Given the description of an element on the screen output the (x, y) to click on. 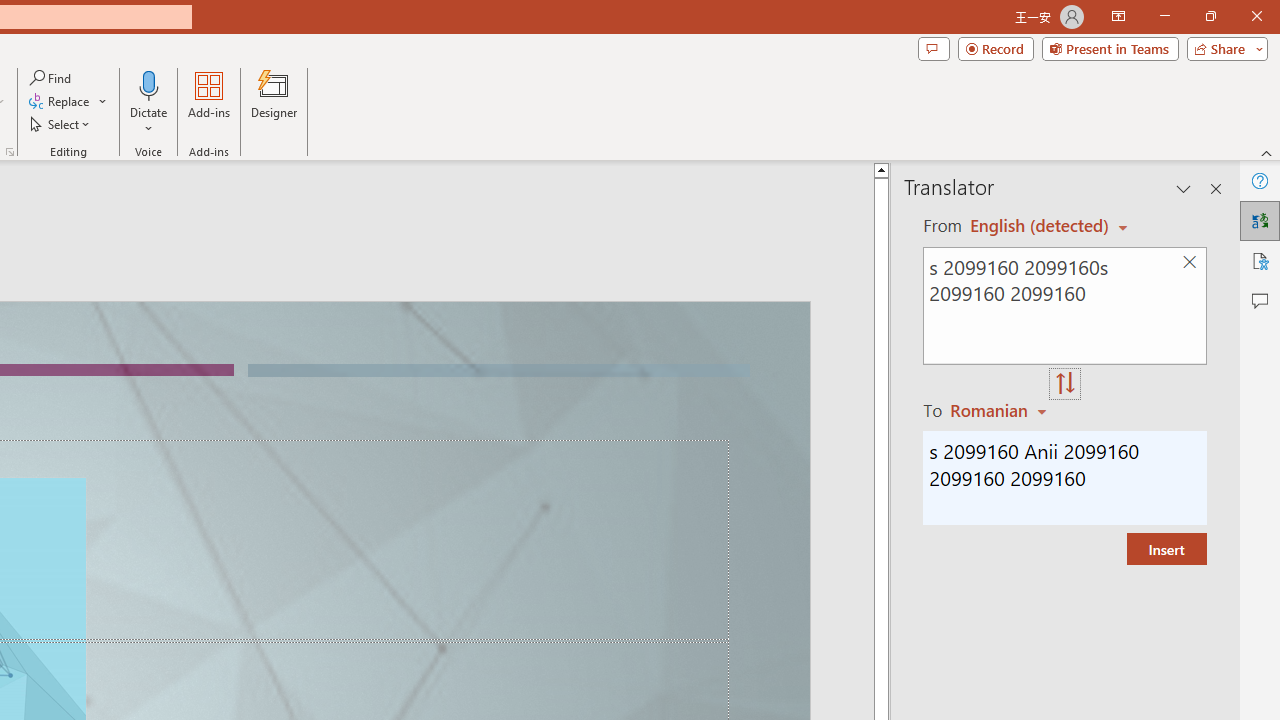
Czech (1001, 409)
